Given the description of an element on the screen output the (x, y) to click on. 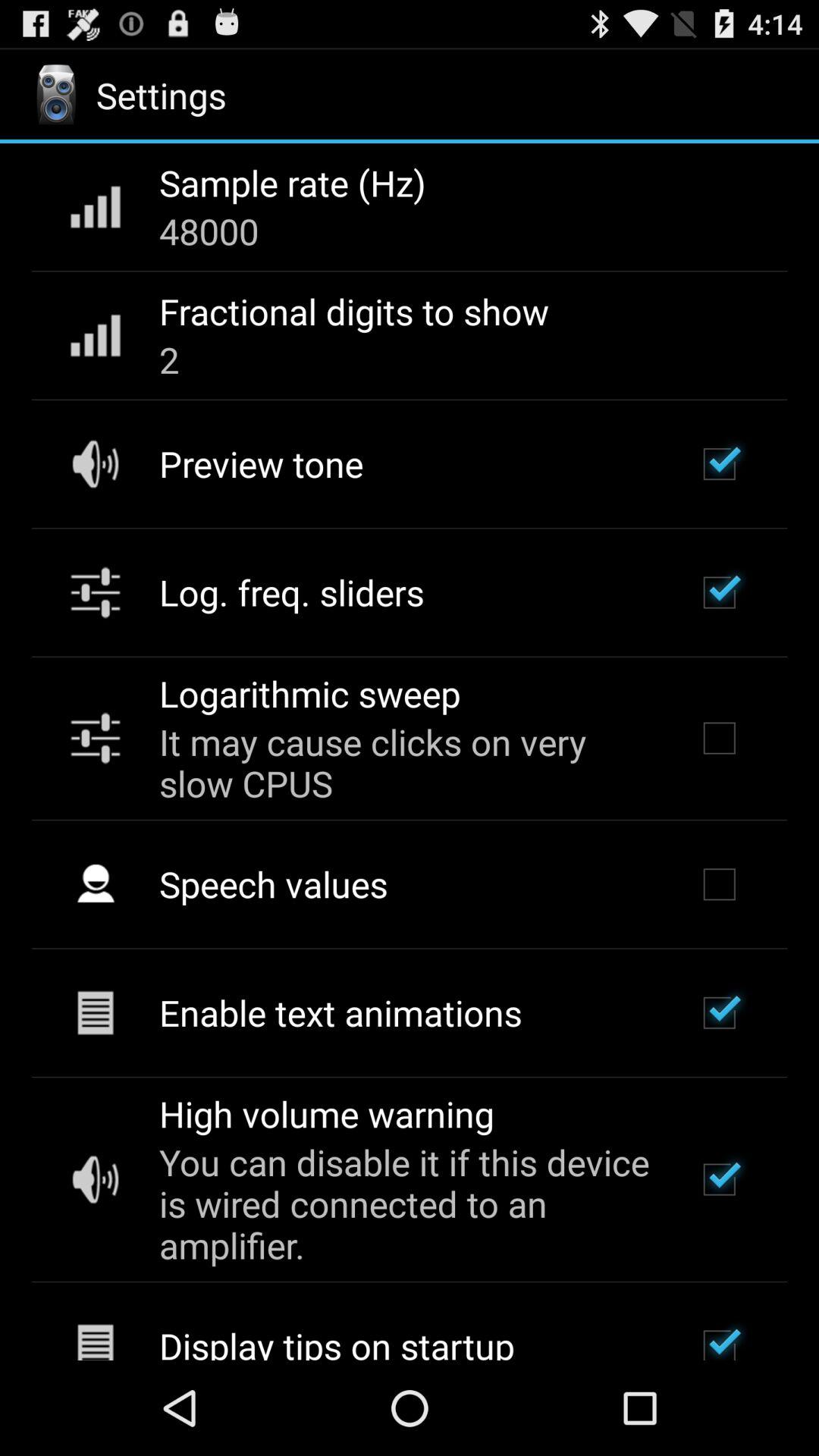
press the item below enable text animations app (326, 1113)
